Given the description of an element on the screen output the (x, y) to click on. 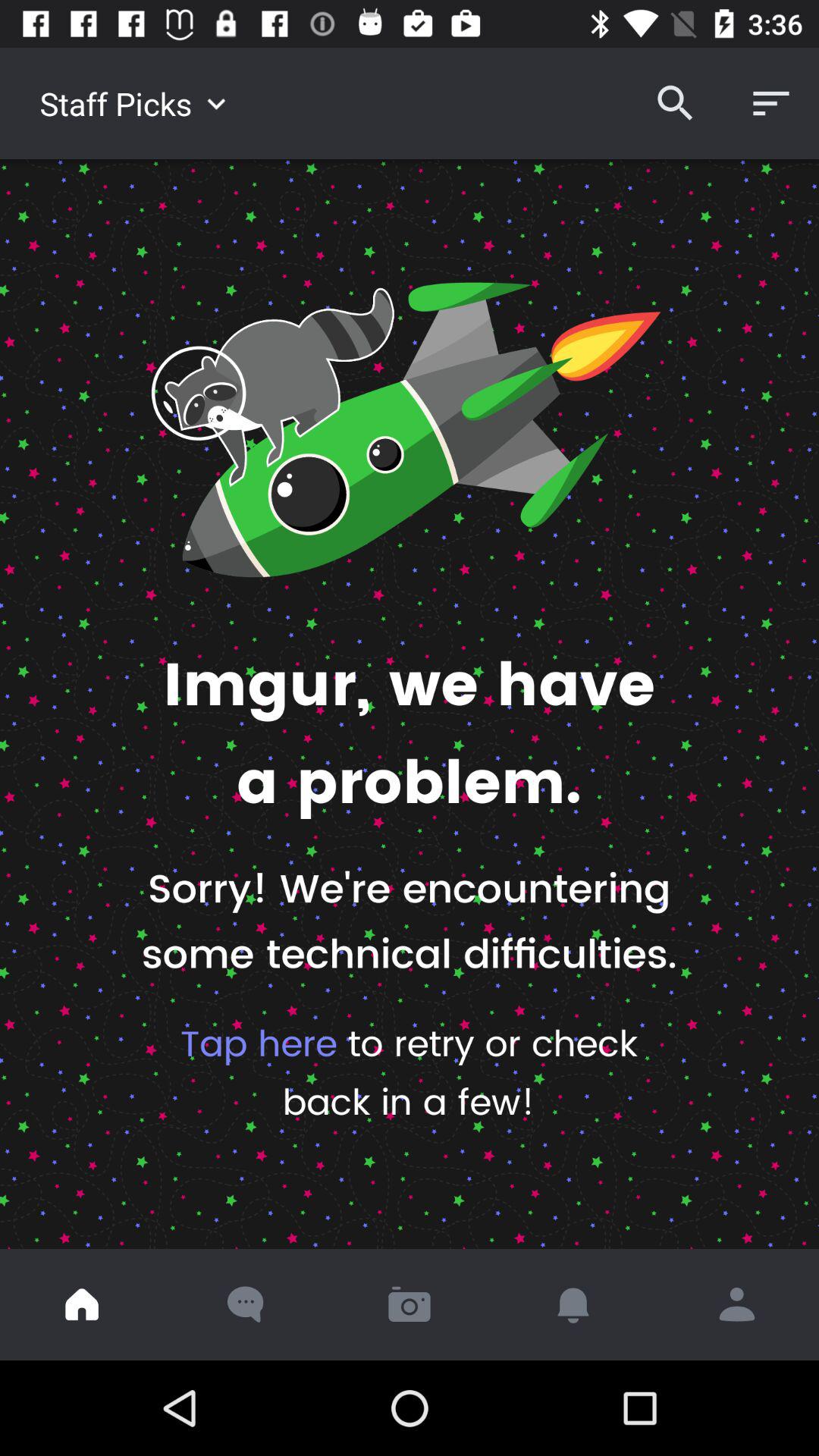
choose item next to staff picks item (675, 103)
